Given the description of an element on the screen output the (x, y) to click on. 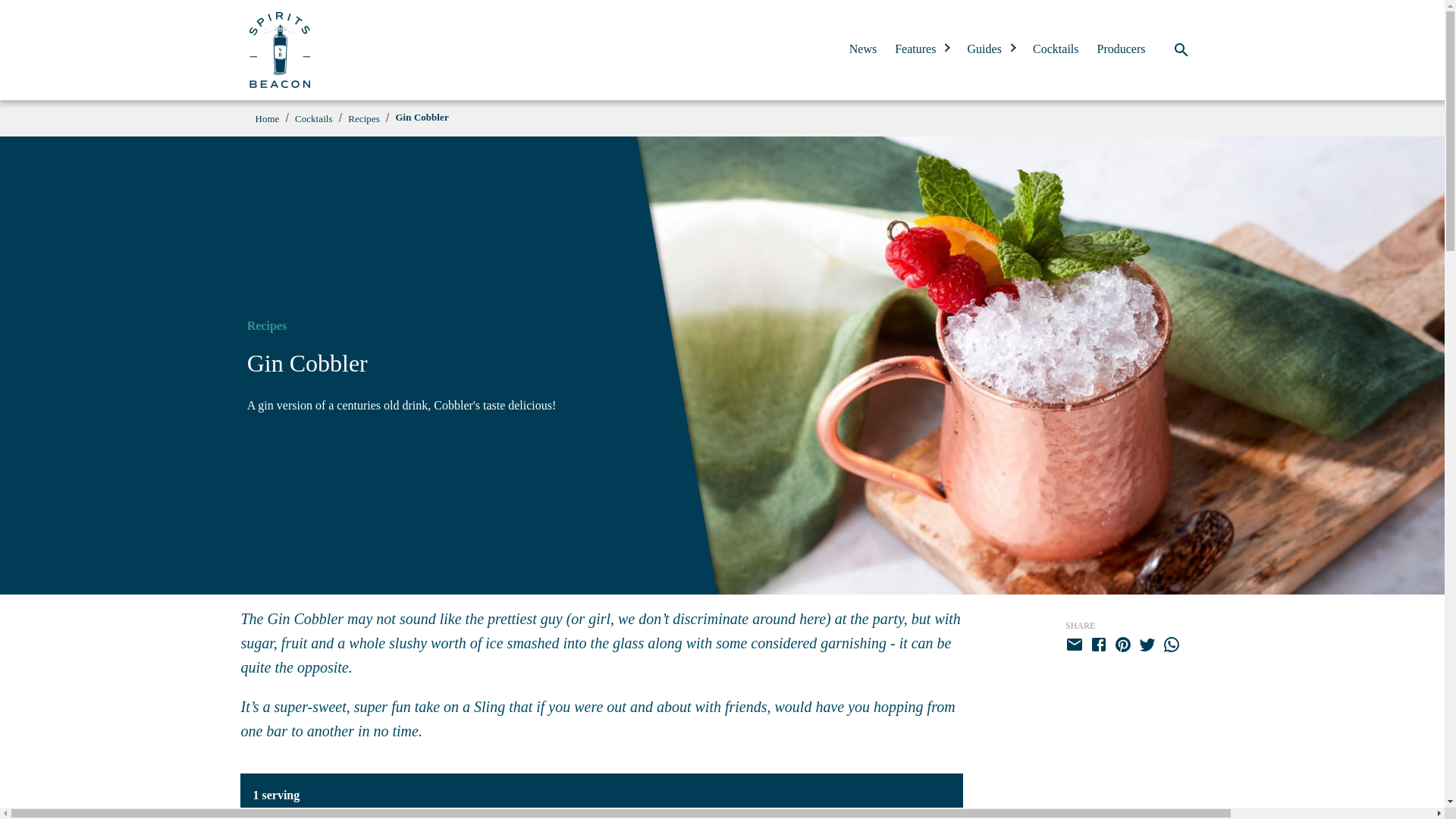
Guides (991, 48)
Recipes (363, 118)
Features (922, 48)
News (862, 48)
Home (266, 118)
Producers (1121, 48)
Cocktails (1055, 48)
Cocktails (314, 118)
